Given the description of an element on the screen output the (x, y) to click on. 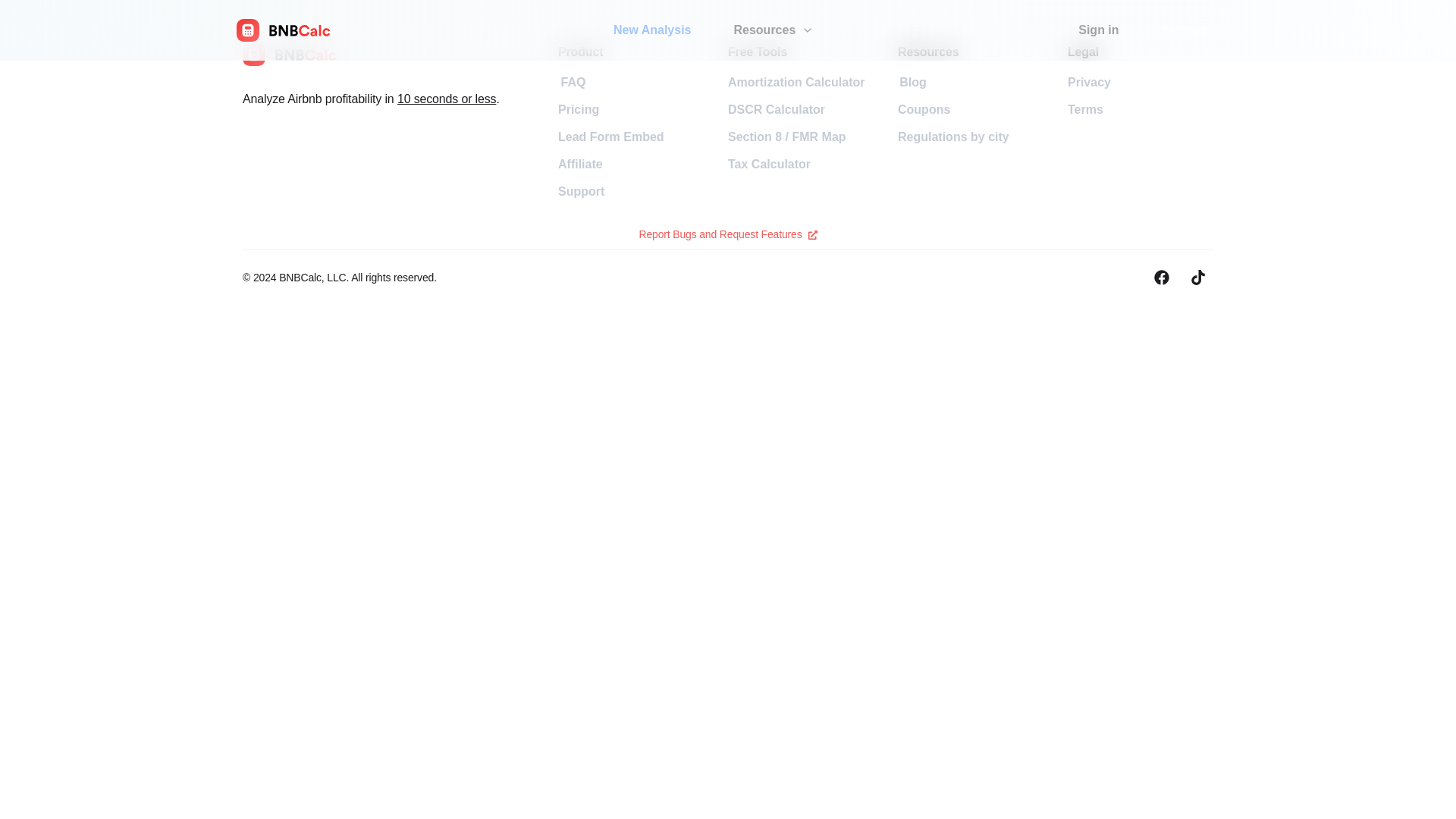
New Analysis (652, 30)
Support (580, 192)
Support (580, 191)
Sign in (1098, 30)
FAQ (572, 82)
Tax Calculator (769, 164)
DSCR Calculator (776, 109)
Amortization Calculator (796, 82)
Lead Form Embed (610, 136)
Amortization Calculator (796, 82)
Regulations by city (953, 136)
Blog (913, 82)
Pricing (577, 109)
Lead Form Embed (610, 137)
Sign Up (1183, 30)
